Given the description of an element on the screen output the (x, y) to click on. 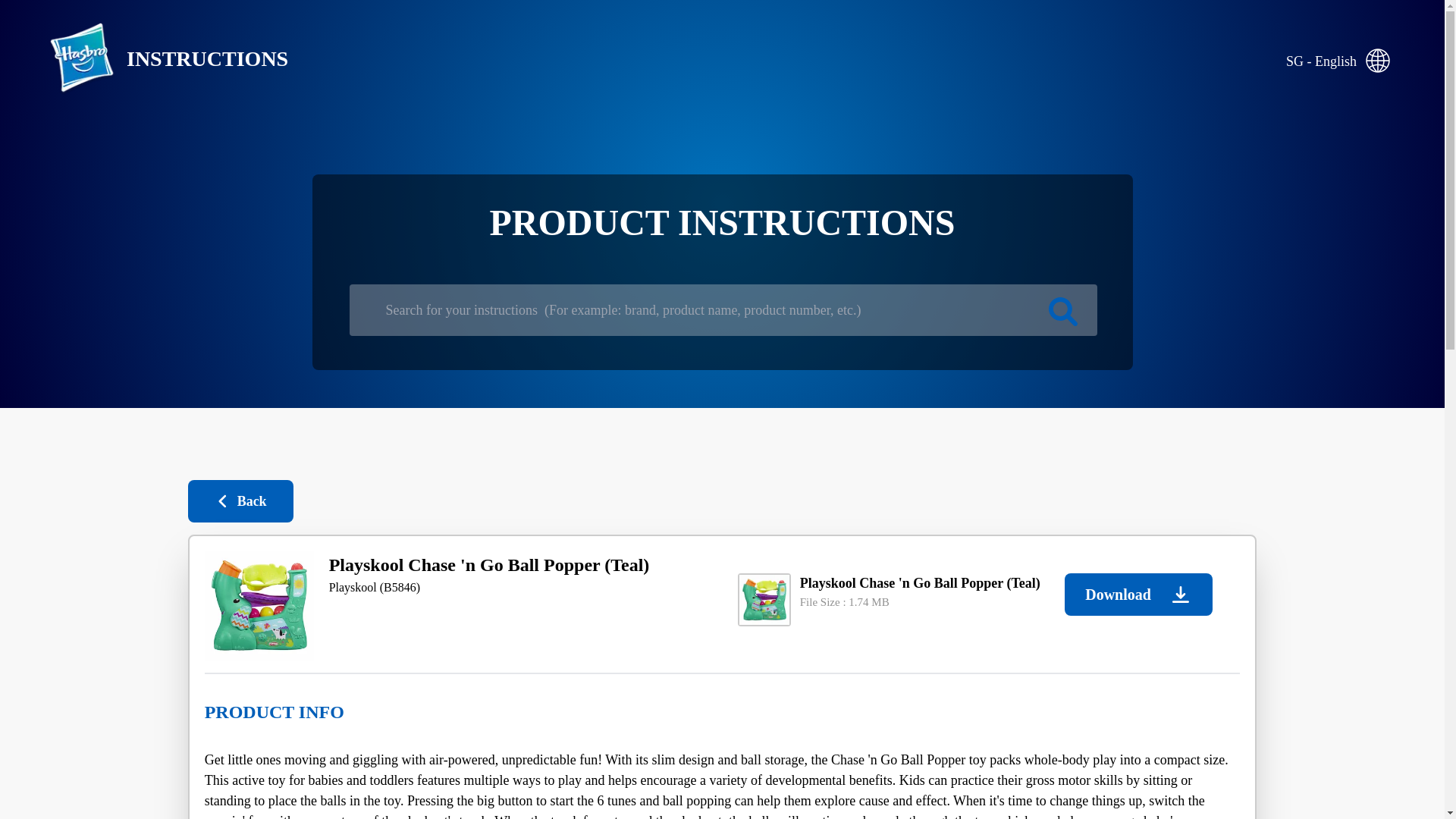
INSTRUCTIONS (156, 59)
Back (240, 500)
Download (1138, 594)
